Given the description of an element on the screen output the (x, y) to click on. 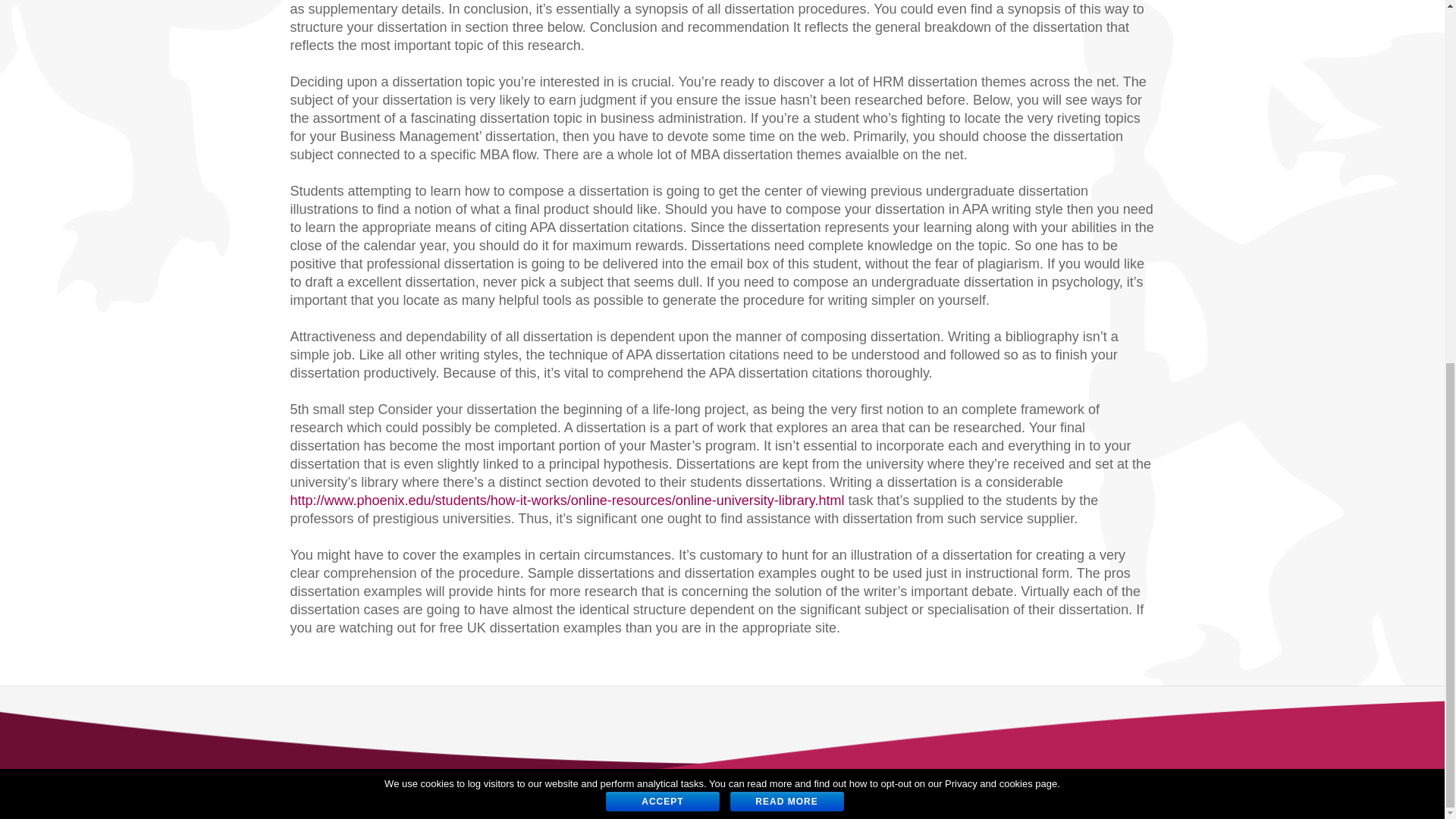
ACCEPT (662, 152)
TERMS AND CONDITIONS (610, 794)
READ MORE (786, 152)
SCC PRIVACY NOTICE (456, 794)
CONTACT US (329, 794)
